Given the description of an element on the screen output the (x, y) to click on. 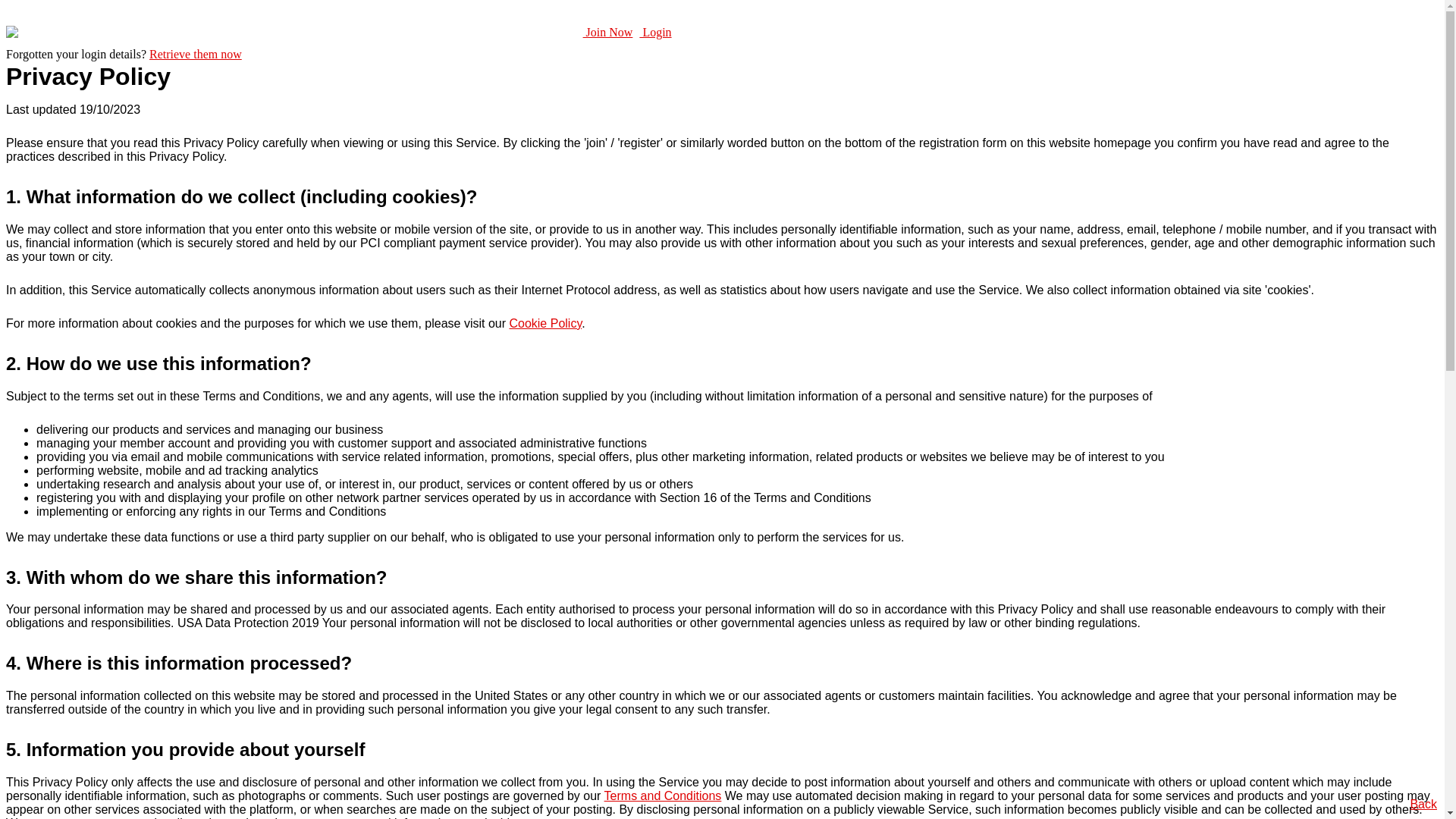
 Join Now Element type: text (608, 31)
 Login Element type: text (655, 31)
Back Element type: text (1423, 803)
Cookie Policy Element type: text (544, 322)
Retrieve them now Element type: text (195, 53)
Terms and Conditions Element type: text (662, 795)
